Given the description of an element on the screen output the (x, y) to click on. 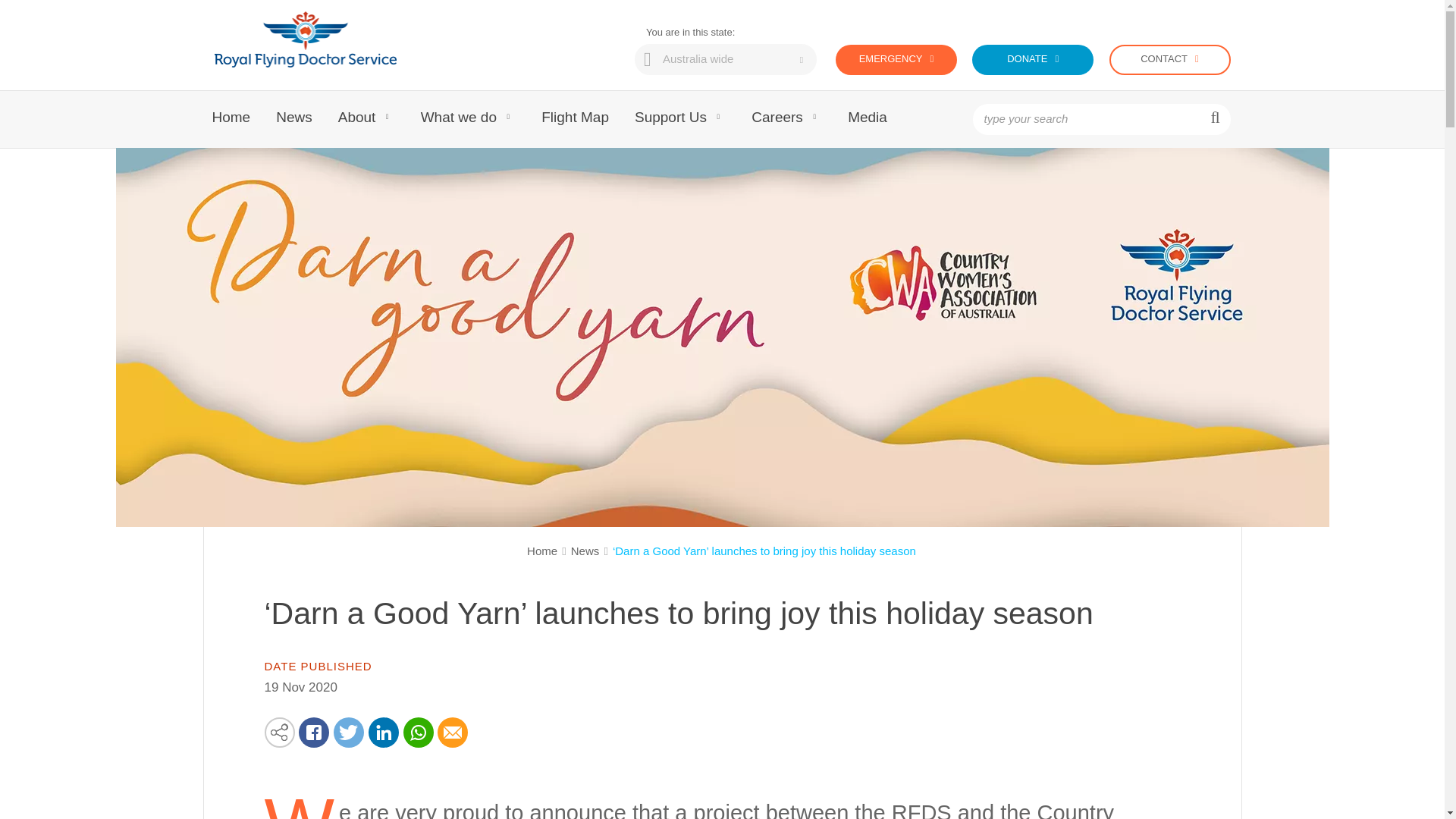
CONTACT (1169, 60)
Website homepage (305, 43)
Welcome to the Royal Flying Doctor Website (305, 43)
DONATE (1032, 60)
Show submenu for Support Us (717, 118)
Show submenu for What we do (507, 118)
EMERGENCY (895, 60)
Flight Map (574, 119)
Show submenu for About (387, 118)
What we do (458, 119)
